Given the description of an element on the screen output the (x, y) to click on. 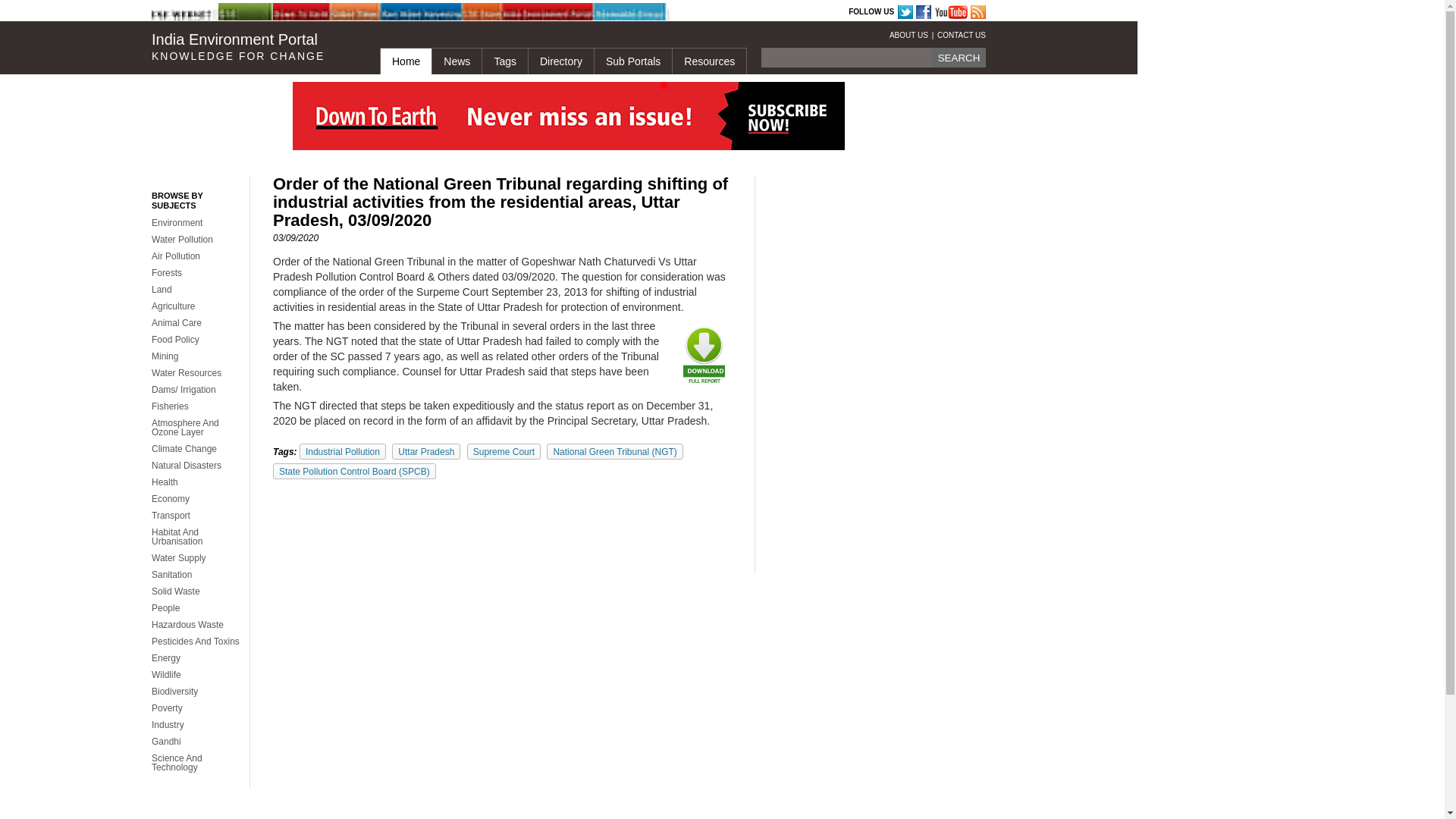
Down to Earth (311, 11)
Tags (504, 60)
CSE (256, 11)
Directory (560, 60)
CSE Store (500, 11)
India Environment Portal KNOWLEDGE FOR CHANGE (253, 46)
Rain Water Harvesting (418, 11)
India Environment Portal (540, 11)
Sub Portals (632, 60)
Resources (708, 60)
